Given the description of an element on the screen output the (x, y) to click on. 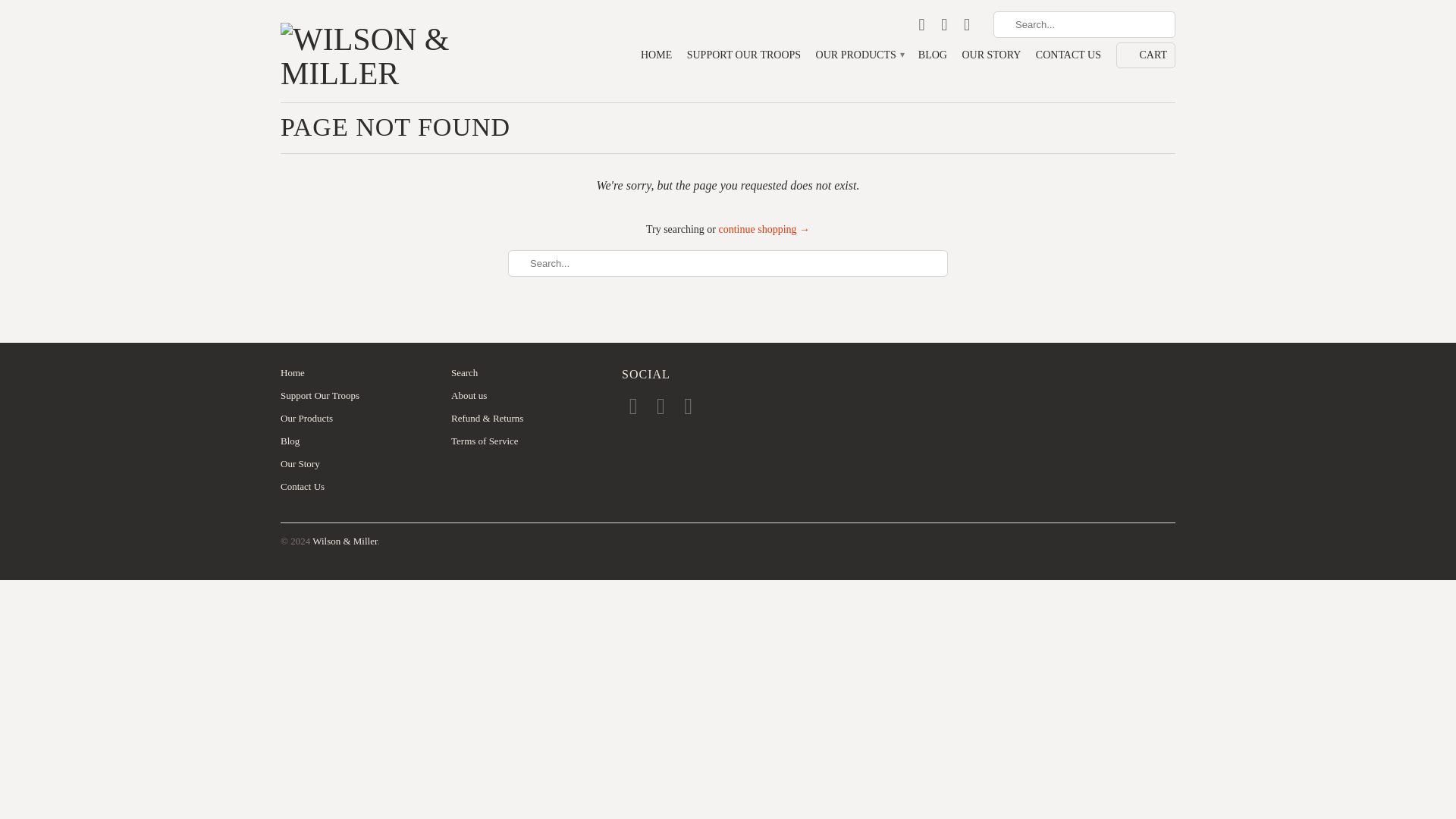
CART (1146, 54)
OUR STORY (990, 58)
SUPPORT OUR TROOPS (743, 58)
Support Our Troops (320, 395)
Home (292, 372)
About us (468, 395)
Blog (290, 440)
Search (464, 372)
Cart (1146, 54)
Home (292, 372)
Our Story (300, 463)
Our Products (307, 418)
HOME (655, 58)
CONTACT US (1067, 58)
Our Products (307, 418)
